Given the description of an element on the screen output the (x, y) to click on. 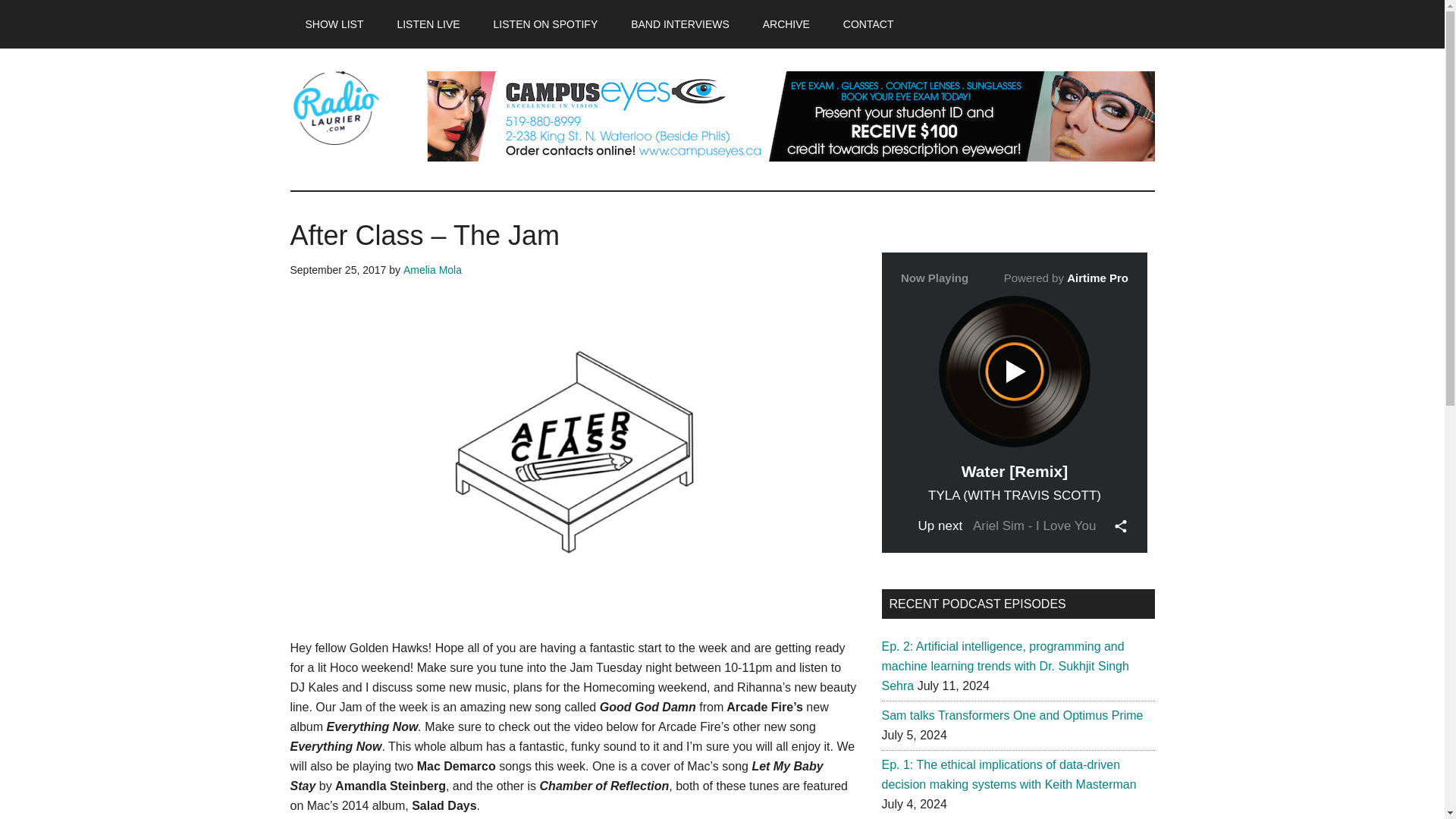
BAND INTERVIEWS (679, 24)
CONTACT (868, 24)
LISTEN LIVE (427, 24)
LISTEN ON SPOTIFY (545, 24)
ARCHIVE (786, 24)
SHOW LIST (333, 24)
